Given the description of an element on the screen output the (x, y) to click on. 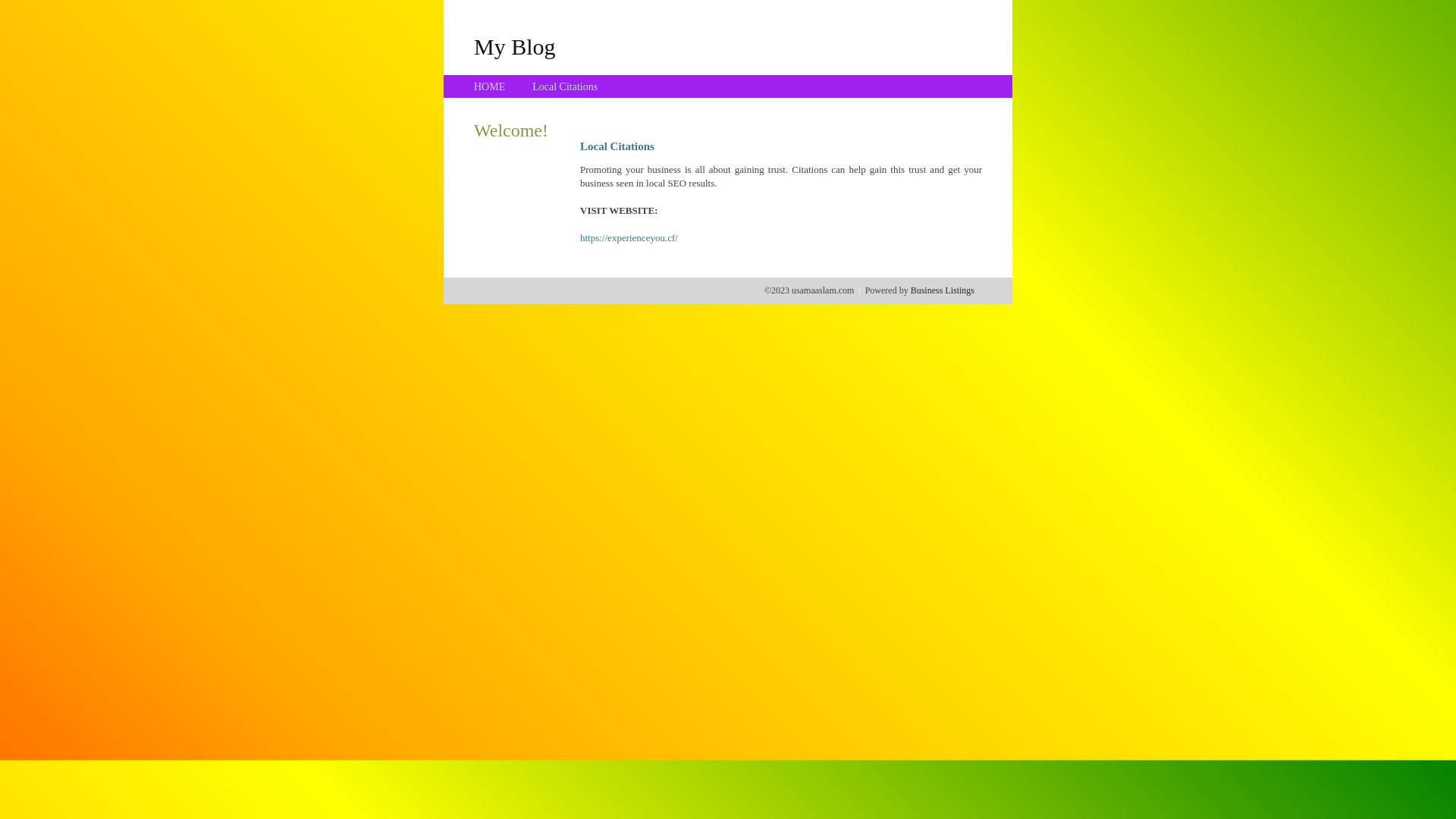
My Blog Element type: text (514, 46)
Local Citations Element type: text (564, 86)
https://experienceyou.cf/ Element type: text (628, 237)
Business Listings Element type: text (942, 290)
HOME Element type: text (489, 86)
